Given the description of an element on the screen output the (x, y) to click on. 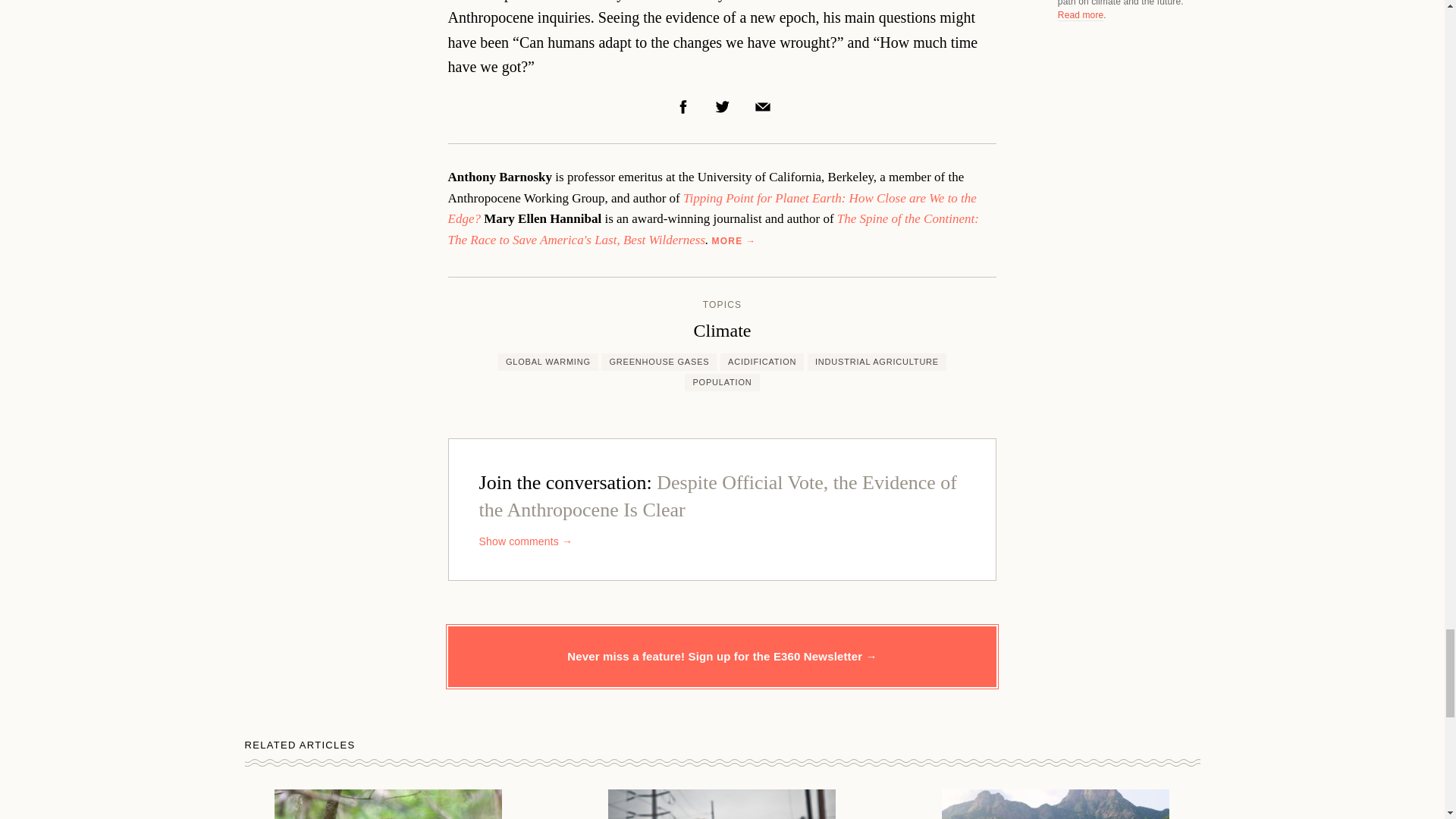
Email (762, 106)
Facebook (683, 106)
Read more (1080, 15)
Twitter (722, 106)
